Given the description of an element on the screen output the (x, y) to click on. 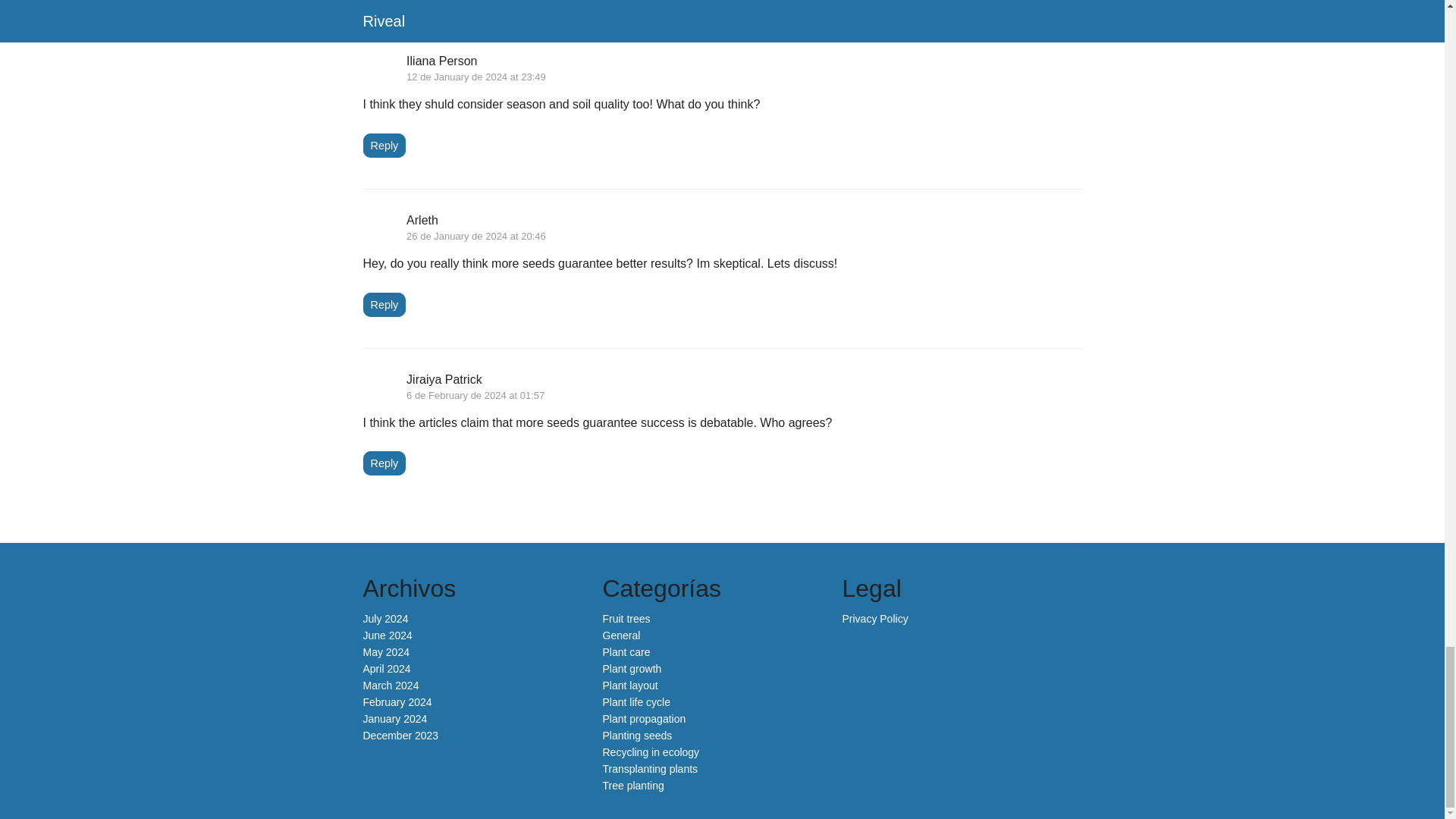
6 de February de 2024 at 01:57 (475, 395)
12 de January de 2024 at 23:49 (476, 76)
May 2024 (385, 652)
Reply (384, 145)
March 2024 (390, 685)
Reply (384, 463)
April 2024 (386, 668)
Reply (384, 304)
January 2024 (394, 718)
June 2024 (387, 635)
February 2024 (396, 702)
July 2024 (384, 618)
26 de January de 2024 at 20:46 (476, 235)
